Given the description of an element on the screen output the (x, y) to click on. 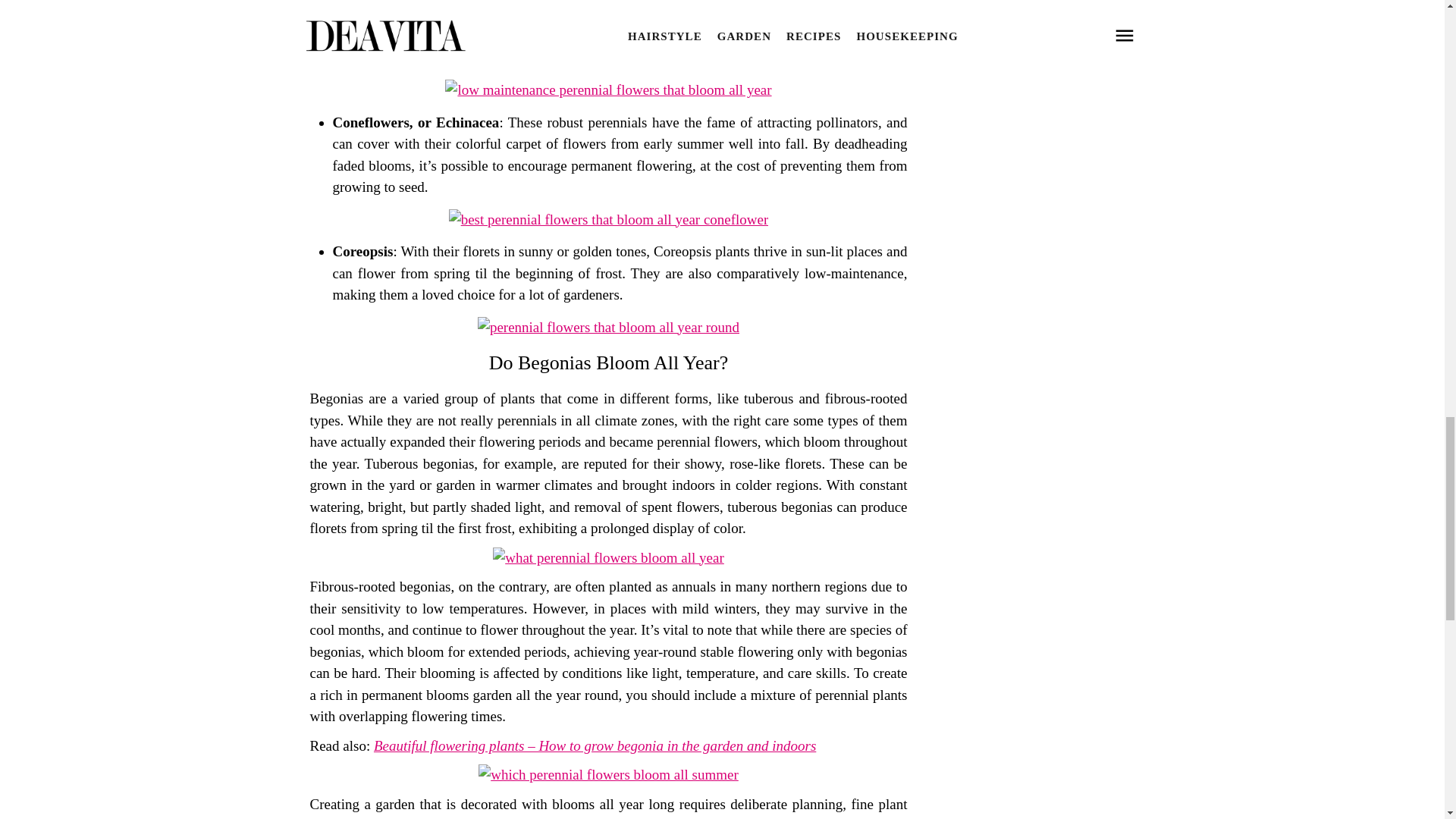
Which perennial flowers bloom all summer (608, 774)
Perennial flowers that bloom all year round (608, 326)
Low maintenance perennial flowers that bloom all year (608, 89)
What perennial flowers bloom all year (608, 557)
Best perennial flowers that bloom all year coneflower (608, 219)
